Given the description of an element on the screen output the (x, y) to click on. 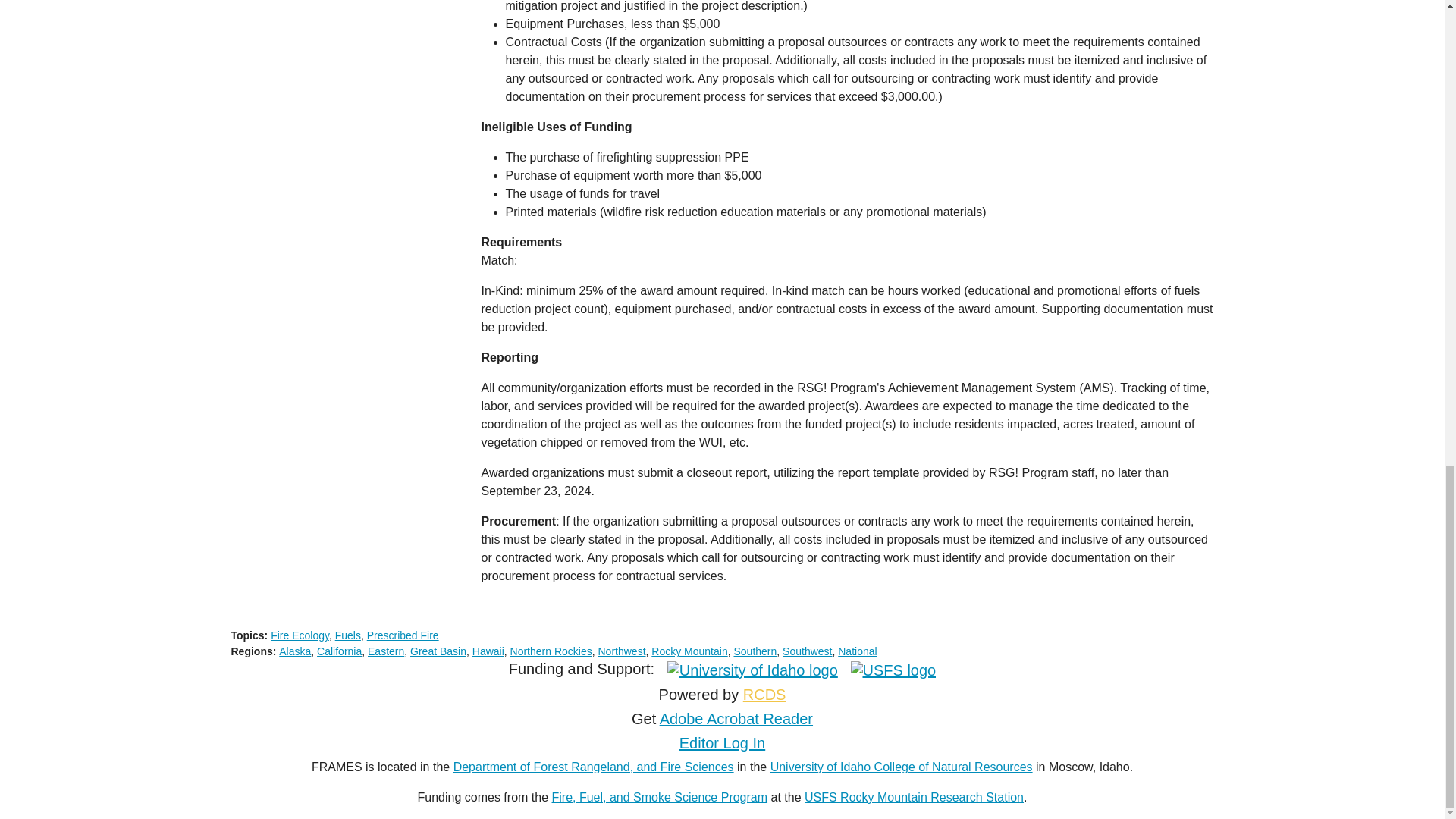
Go to the Adobe Acrobat Reader website (735, 718)
